Given the description of an element on the screen output the (x, y) to click on. 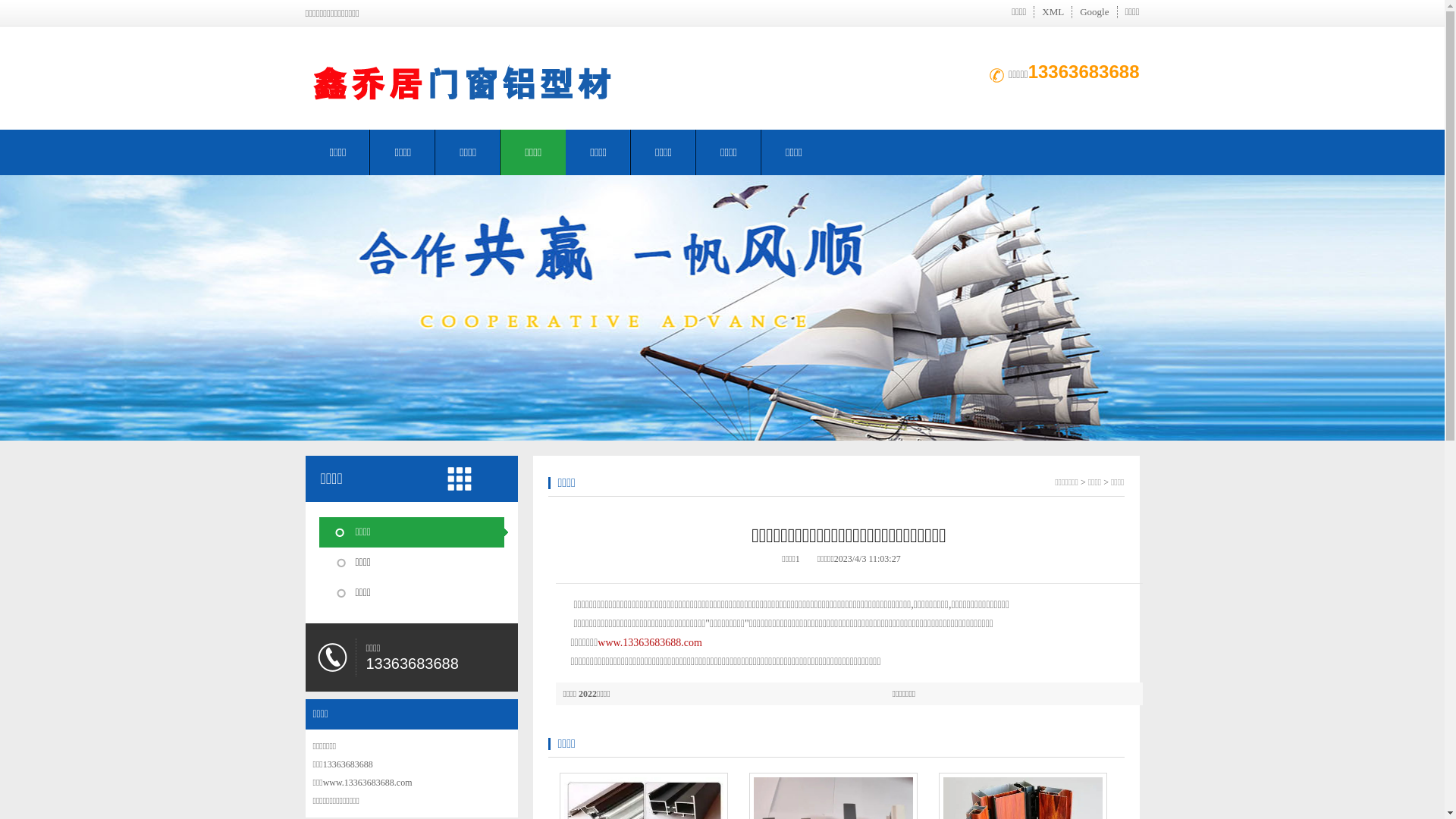
www.13363683688.com Element type: text (649, 642)
Google Element type: text (1093, 11)
XML Element type: text (1052, 11)
